Given the description of an element on the screen output the (x, y) to click on. 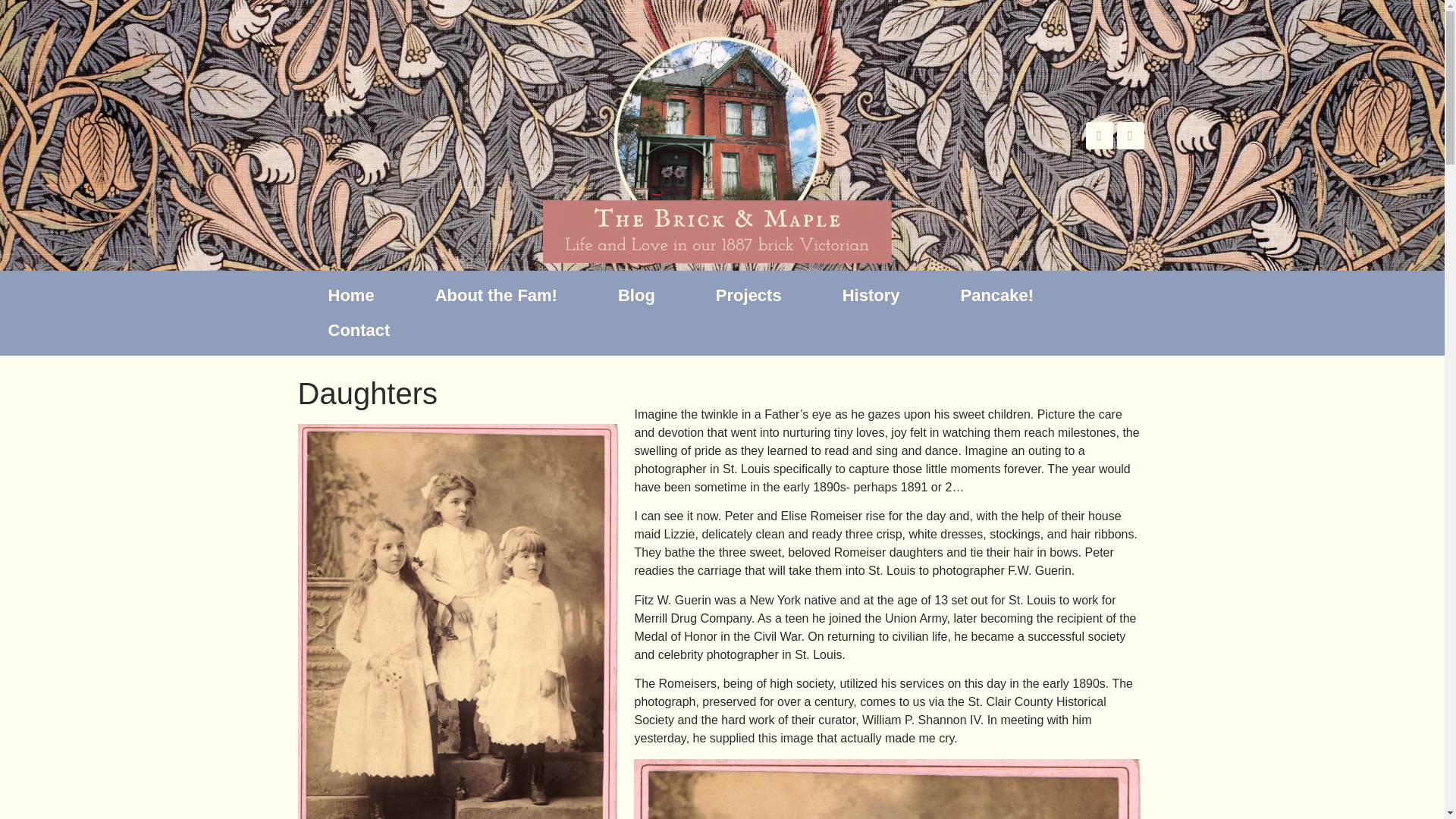
Pancake! (997, 295)
Contact (358, 330)
Blog (636, 295)
Projects (748, 295)
About the Fam! (496, 295)
History (871, 295)
Home (350, 295)
